Given the description of an element on the screen output the (x, y) to click on. 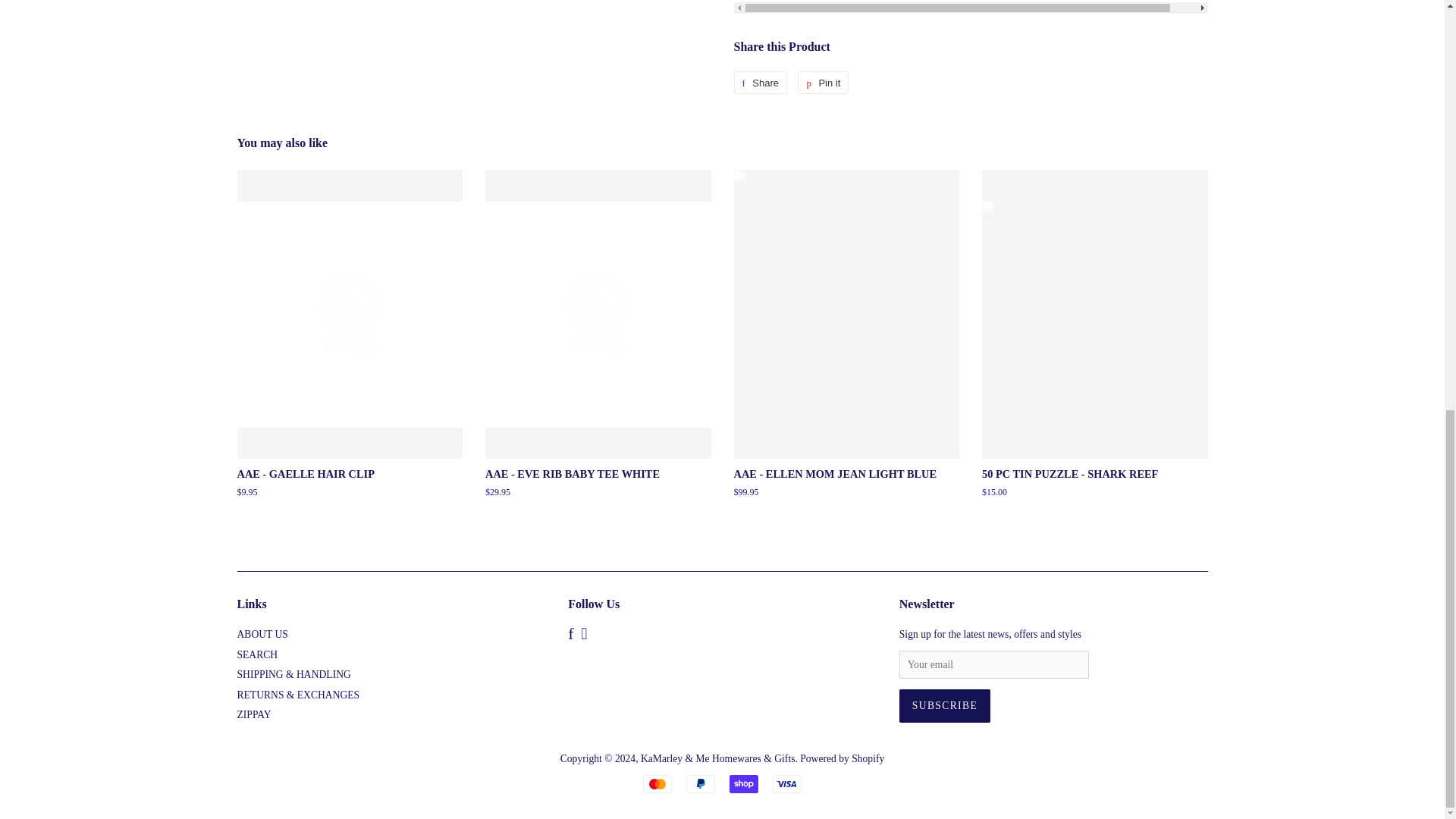
PayPal (699, 783)
Pin on Pinterest (822, 82)
Share on Facebook (760, 82)
Mastercard (657, 783)
Subscribe (944, 705)
Visa (787, 783)
Shop Pay (743, 783)
